Given the description of an element on the screen output the (x, y) to click on. 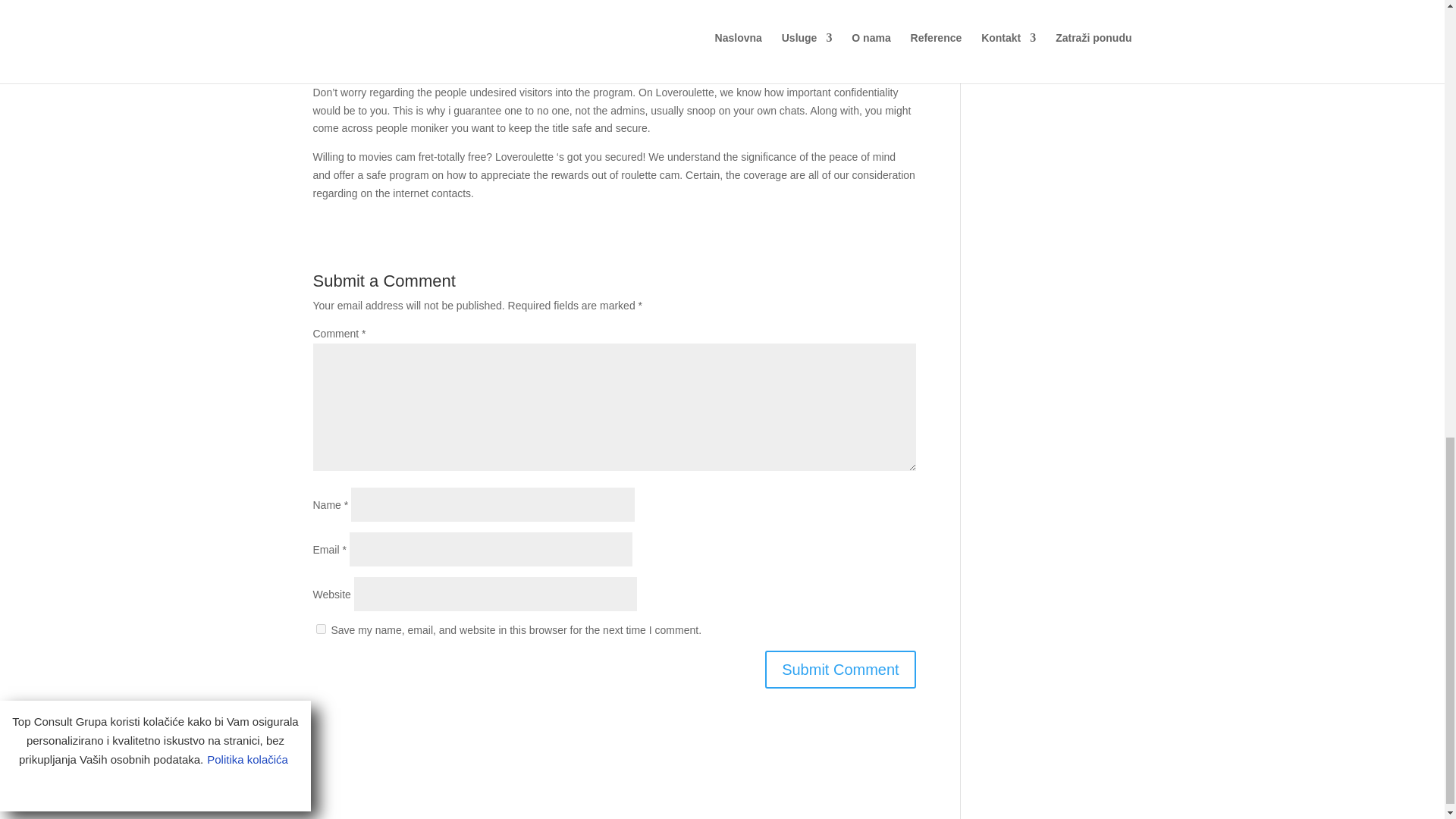
Submit Comment (840, 669)
Submit Comment (840, 669)
yes (319, 628)
